Given the description of an element on the screen output the (x, y) to click on. 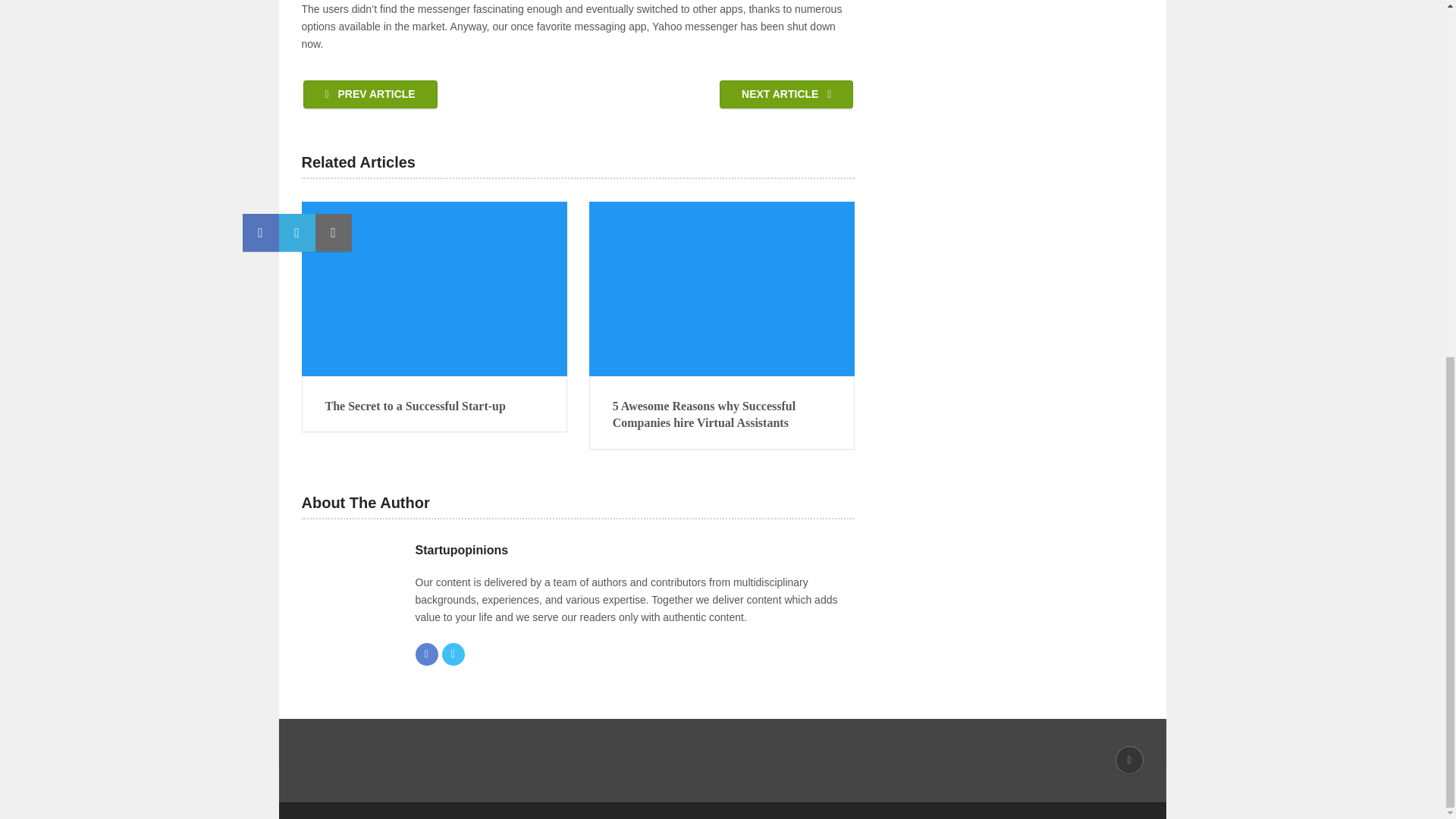
Startupopinions (461, 550)
The Secret to a Successful Start-up (434, 288)
Startup Opinions (420, 792)
PREV ARTICLE (370, 94)
The Secret to a Successful Start-up (433, 406)
 Startup stories and startup information (420, 792)
NEXT ARTICLE (786, 94)
